Given the description of an element on the screen output the (x, y) to click on. 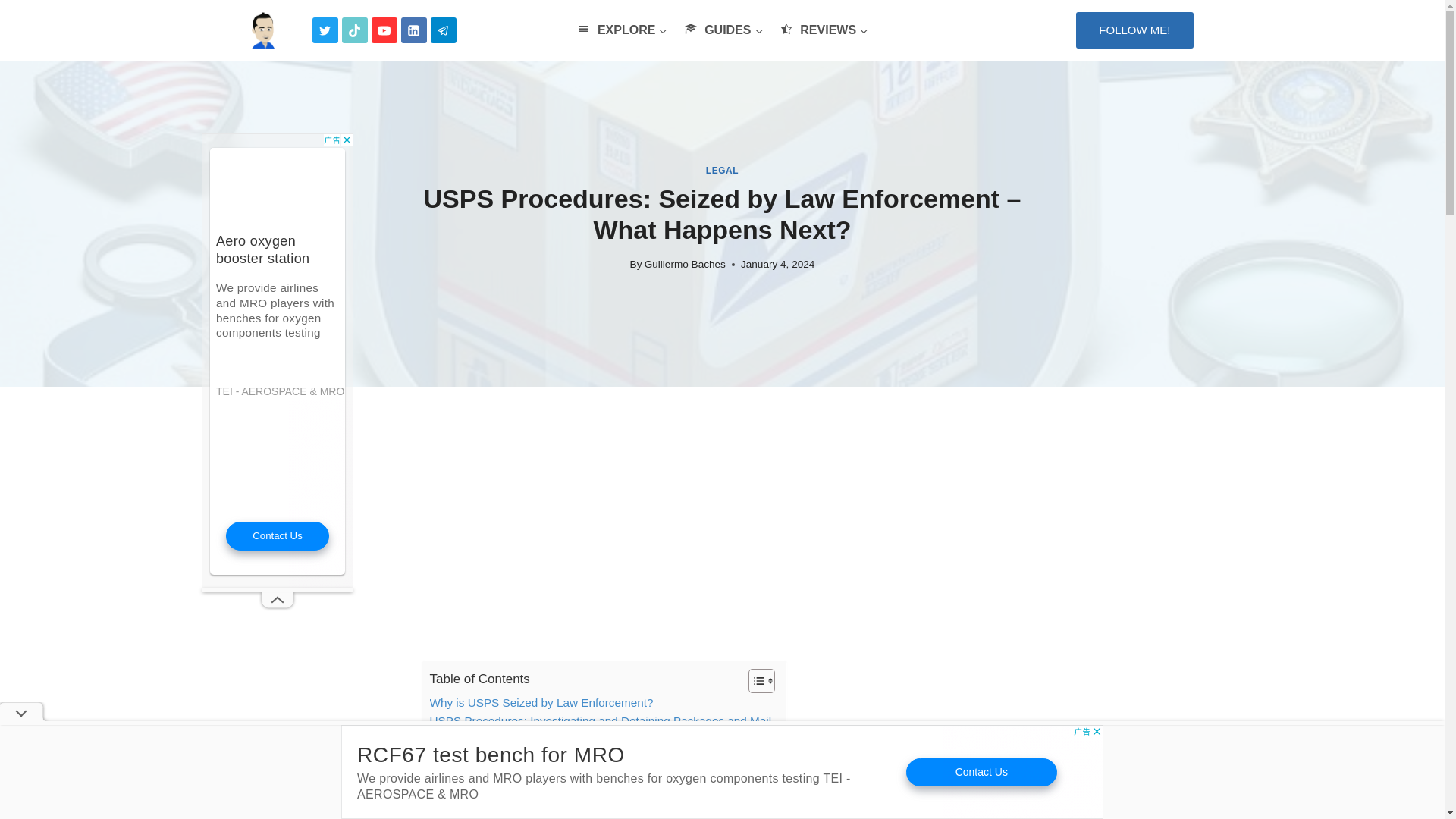
Why is USPS Seized by Law Enforcement? (540, 702)
USPS Procedures: Seeking Legal Representation (557, 758)
Advertisement (721, 771)
EXPLORE (622, 29)
FOLLOW ME! (1133, 30)
USPS Procedures: Indictment and Potential Consequences (582, 740)
GUIDES (723, 29)
Advertisement (722, 553)
REVIEWS (823, 29)
